Given the description of an element on the screen output the (x, y) to click on. 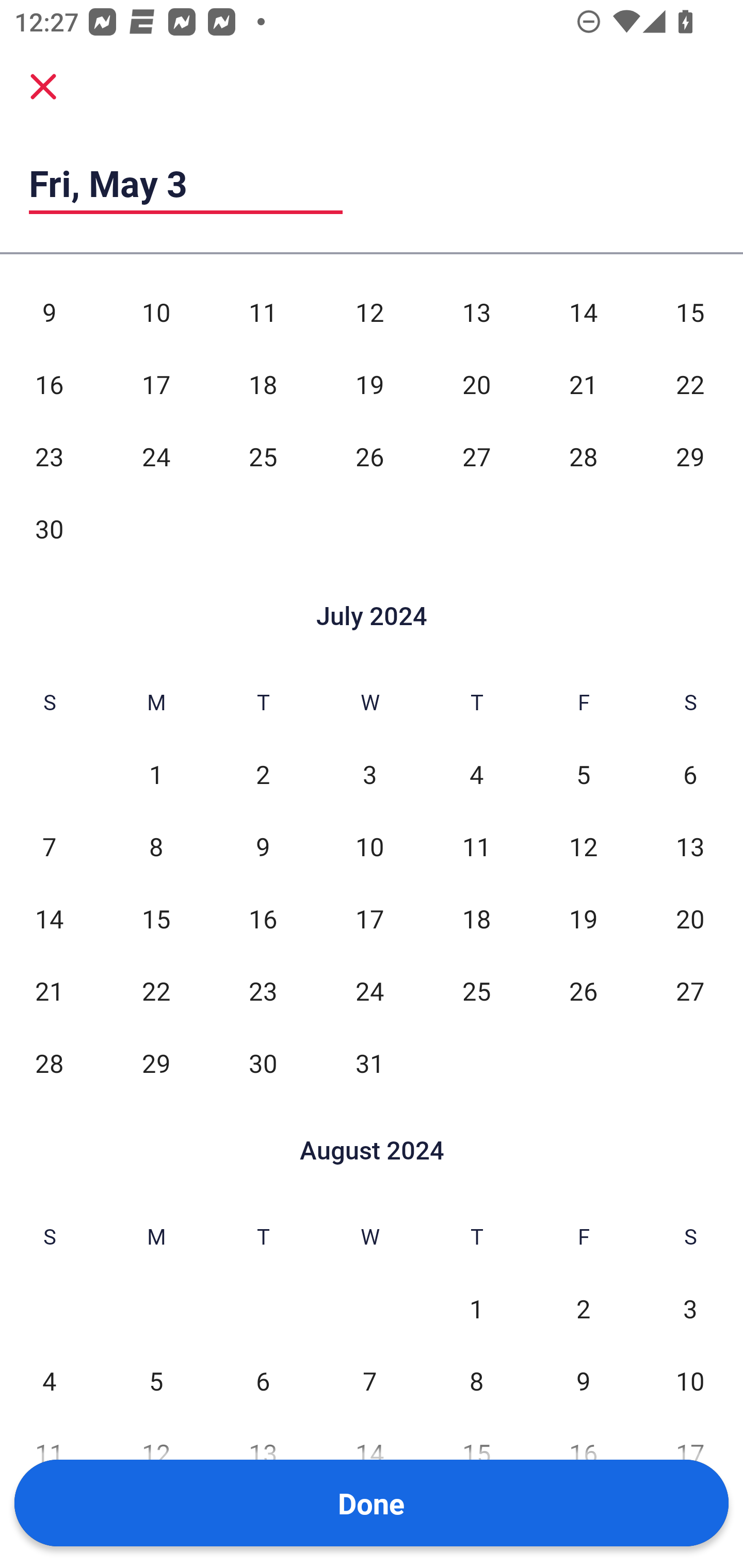
Cancel (43, 86)
Fri, May 3 (185, 182)
9 Sun, Jun 9, Not Selected (49, 311)
10 Mon, Jun 10, Not Selected (156, 311)
11 Tue, Jun 11, Not Selected (263, 311)
12 Wed, Jun 12, Not Selected (369, 311)
13 Thu, Jun 13, Not Selected (476, 311)
14 Fri, Jun 14, Not Selected (583, 311)
15 Sat, Jun 15, Not Selected (690, 311)
16 Sun, Jun 16, Not Selected (49, 384)
17 Mon, Jun 17, Not Selected (156, 384)
18 Tue, Jun 18, Not Selected (263, 384)
19 Wed, Jun 19, Not Selected (369, 384)
20 Thu, Jun 20, Not Selected (476, 384)
21 Fri, Jun 21, Not Selected (583, 384)
22 Sat, Jun 22, Not Selected (690, 384)
23 Sun, Jun 23, Not Selected (49, 456)
24 Mon, Jun 24, Not Selected (156, 456)
25 Tue, Jun 25, Not Selected (263, 456)
26 Wed, Jun 26, Not Selected (369, 456)
27 Thu, Jun 27, Not Selected (476, 456)
28 Fri, Jun 28, Not Selected (583, 456)
29 Sat, Jun 29, Not Selected (690, 456)
30 Sun, Jun 30, Not Selected (49, 528)
1 Mon, Jul 1, Not Selected (156, 774)
2 Tue, Jul 2, Not Selected (263, 774)
3 Wed, Jul 3, Not Selected (369, 774)
4 Thu, Jul 4, Not Selected (476, 774)
5 Fri, Jul 5, Not Selected (583, 774)
6 Sat, Jul 6, Not Selected (690, 774)
7 Sun, Jul 7, Not Selected (49, 846)
8 Mon, Jul 8, Not Selected (156, 846)
9 Tue, Jul 9, Not Selected (263, 846)
10 Wed, Jul 10, Not Selected (369, 846)
11 Thu, Jul 11, Not Selected (476, 846)
12 Fri, Jul 12, Not Selected (583, 846)
13 Sat, Jul 13, Not Selected (690, 846)
14 Sun, Jul 14, Not Selected (49, 918)
15 Mon, Jul 15, Not Selected (156, 918)
16 Tue, Jul 16, Not Selected (263, 918)
17 Wed, Jul 17, Not Selected (369, 918)
18 Thu, Jul 18, Not Selected (476, 918)
19 Fri, Jul 19, Not Selected (583, 918)
20 Sat, Jul 20, Not Selected (690, 918)
21 Sun, Jul 21, Not Selected (49, 990)
22 Mon, Jul 22, Not Selected (156, 990)
23 Tue, Jul 23, Not Selected (263, 990)
24 Wed, Jul 24, Not Selected (369, 990)
25 Thu, Jul 25, Not Selected (476, 990)
26 Fri, Jul 26, Not Selected (583, 990)
